Given the description of an element on the screen output the (x, y) to click on. 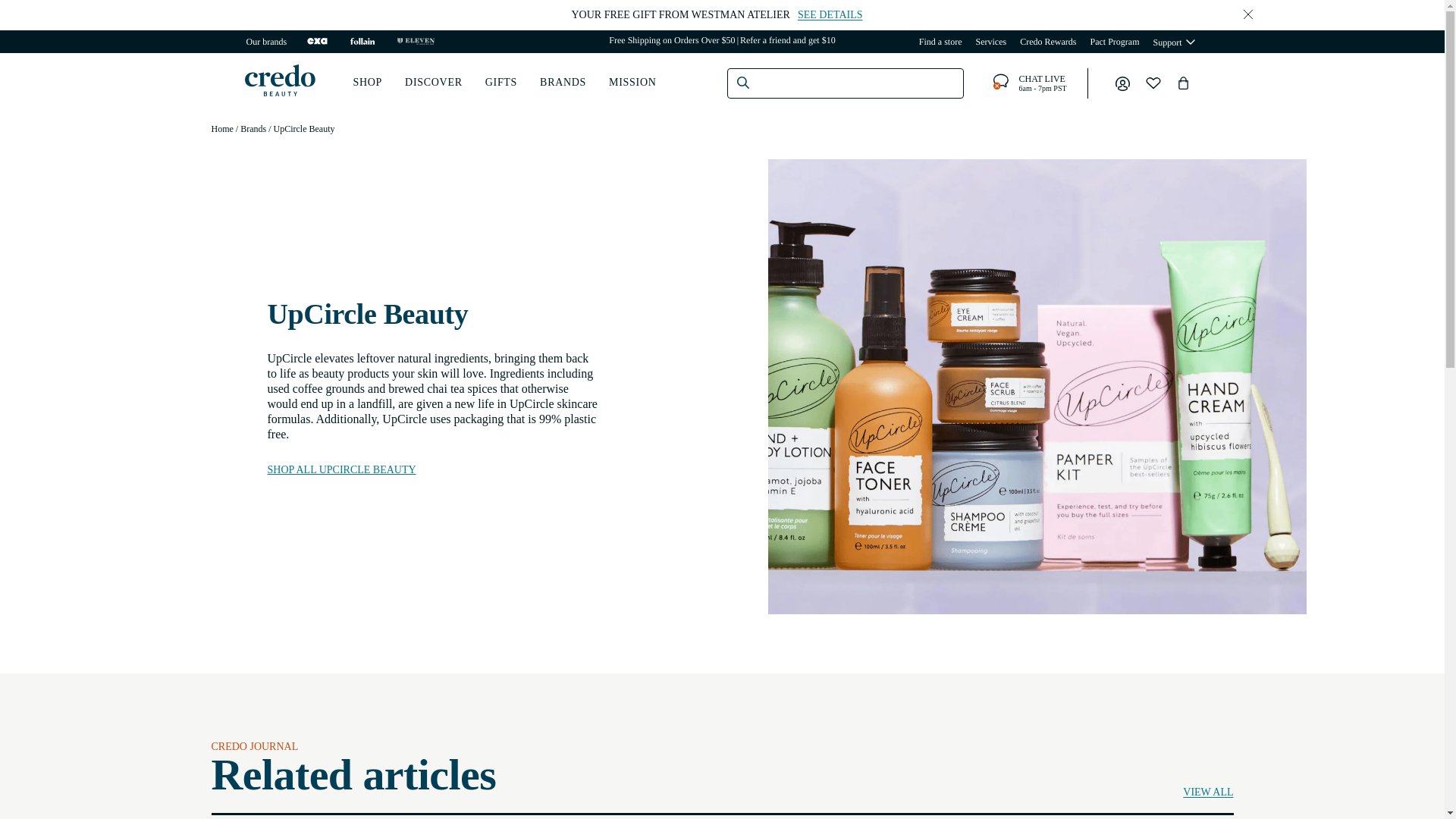
Services (990, 41)
Credo Rewards (1047, 41)
Find a store (940, 41)
Search Button (742, 82)
Skip to content (45, 17)
Bag (1182, 82)
Our brands (1026, 82)
Support submenu (264, 41)
Pact Program (1191, 41)
